Given the description of an element on the screen output the (x, y) to click on. 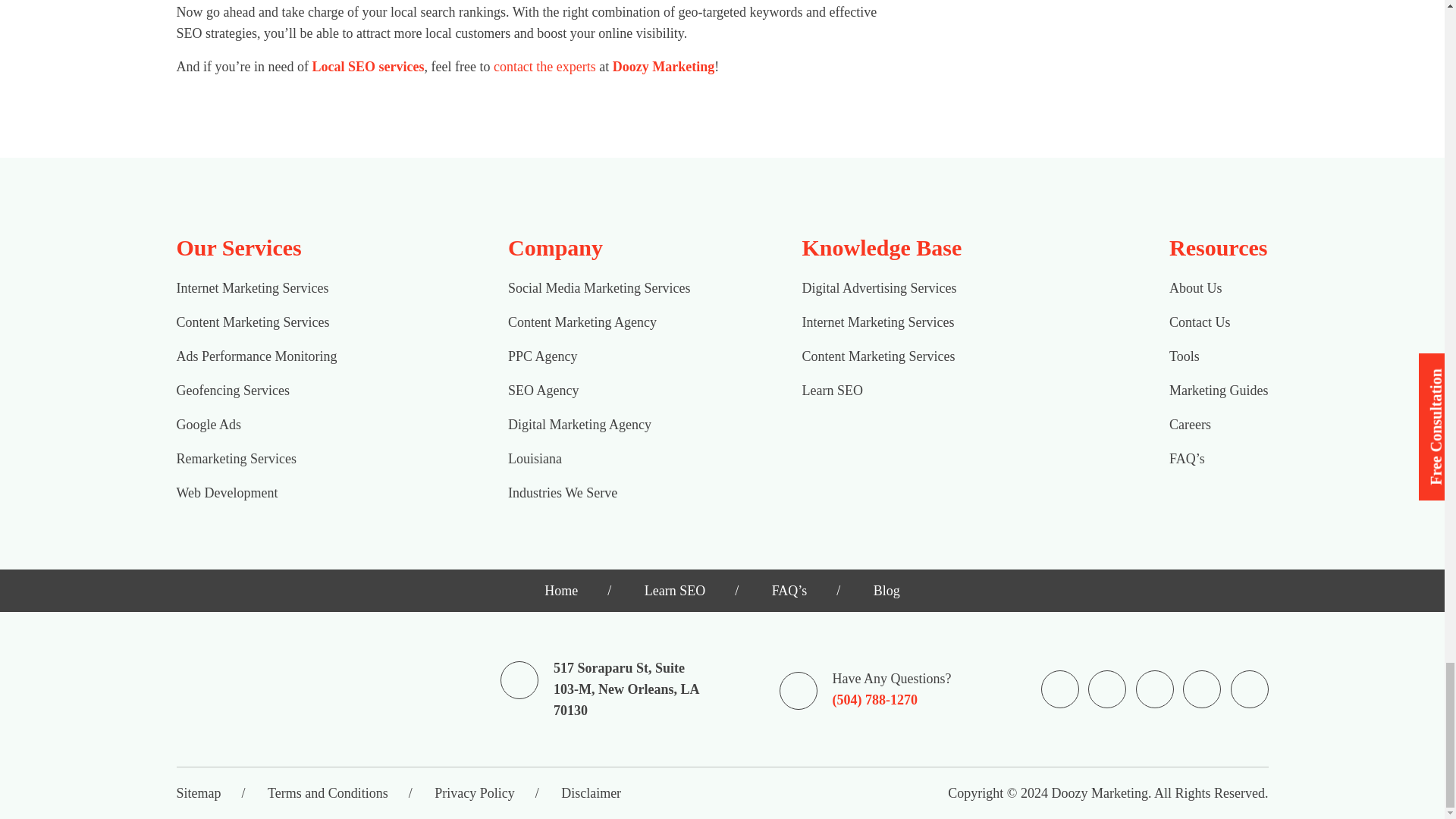
twitter (1154, 688)
instagram (1106, 688)
youtube (1249, 689)
footer-logo (276, 689)
linkedin (1201, 689)
